Given the description of an element on the screen output the (x, y) to click on. 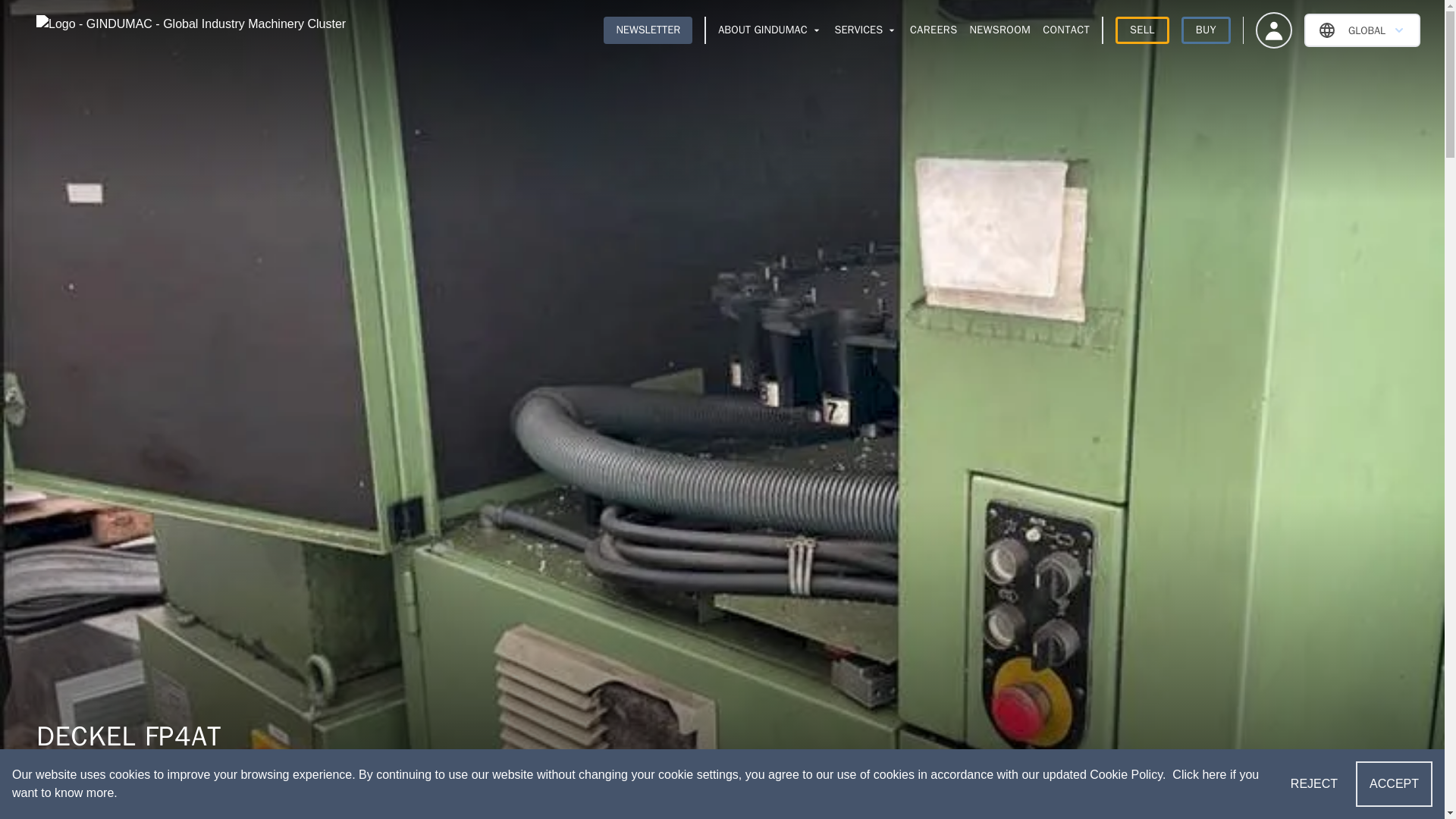
CONTACT (1065, 30)
NEWSLETTER (648, 30)
GLOBAL (1362, 29)
SERVICES (866, 30)
SELL (1142, 30)
BUY (1205, 30)
NEWSROOM (999, 30)
ABOUT GINDUMAC (769, 30)
CAREERS (933, 30)
Logo - GINDUMAC - Global Industry Machinery Cluster (191, 30)
